Given the description of an element on the screen output the (x, y) to click on. 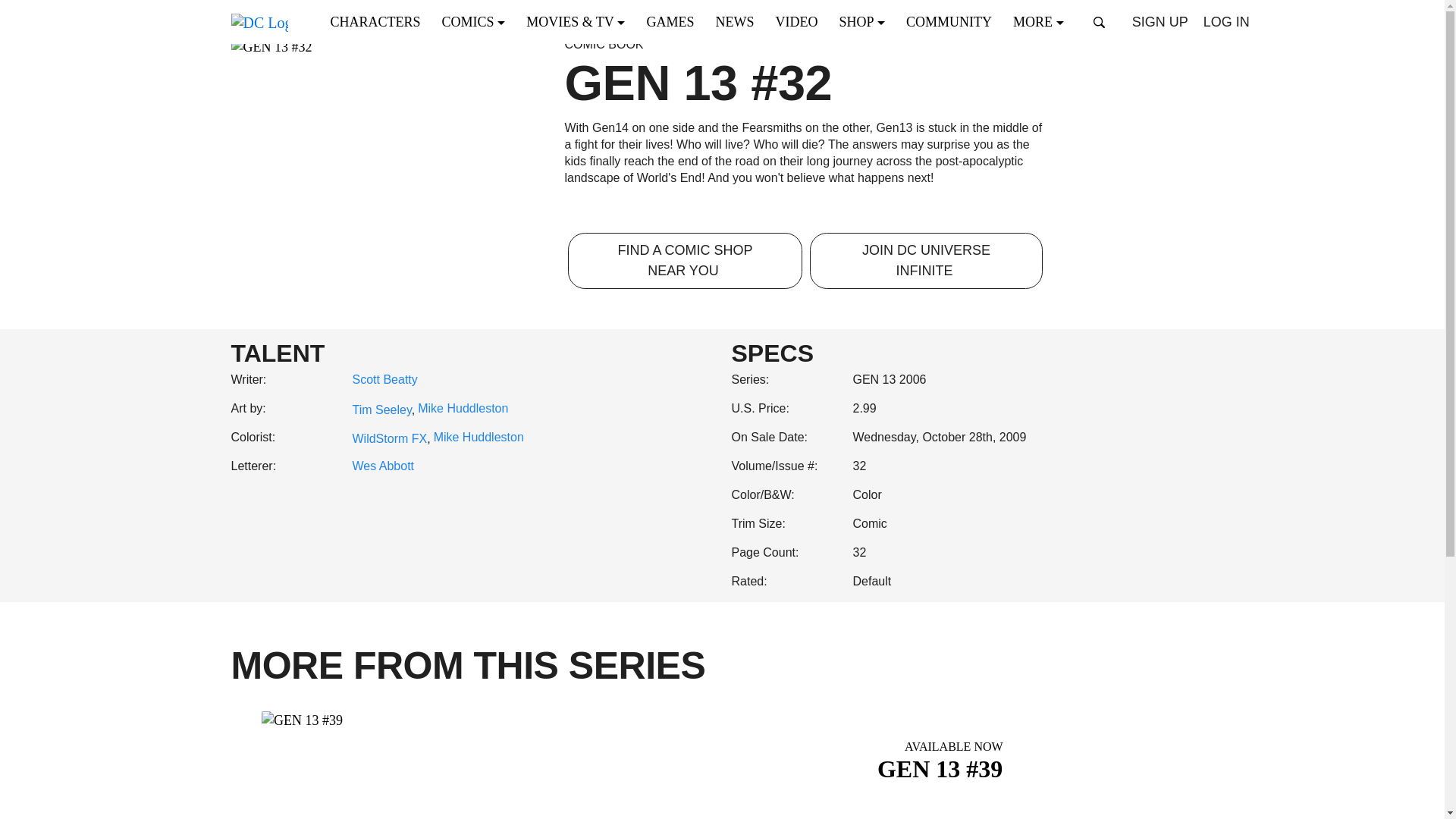
COMICS (478, 21)
Open search (1099, 22)
CHARACTERS (379, 21)
